Given the description of an element on the screen output the (x, y) to click on. 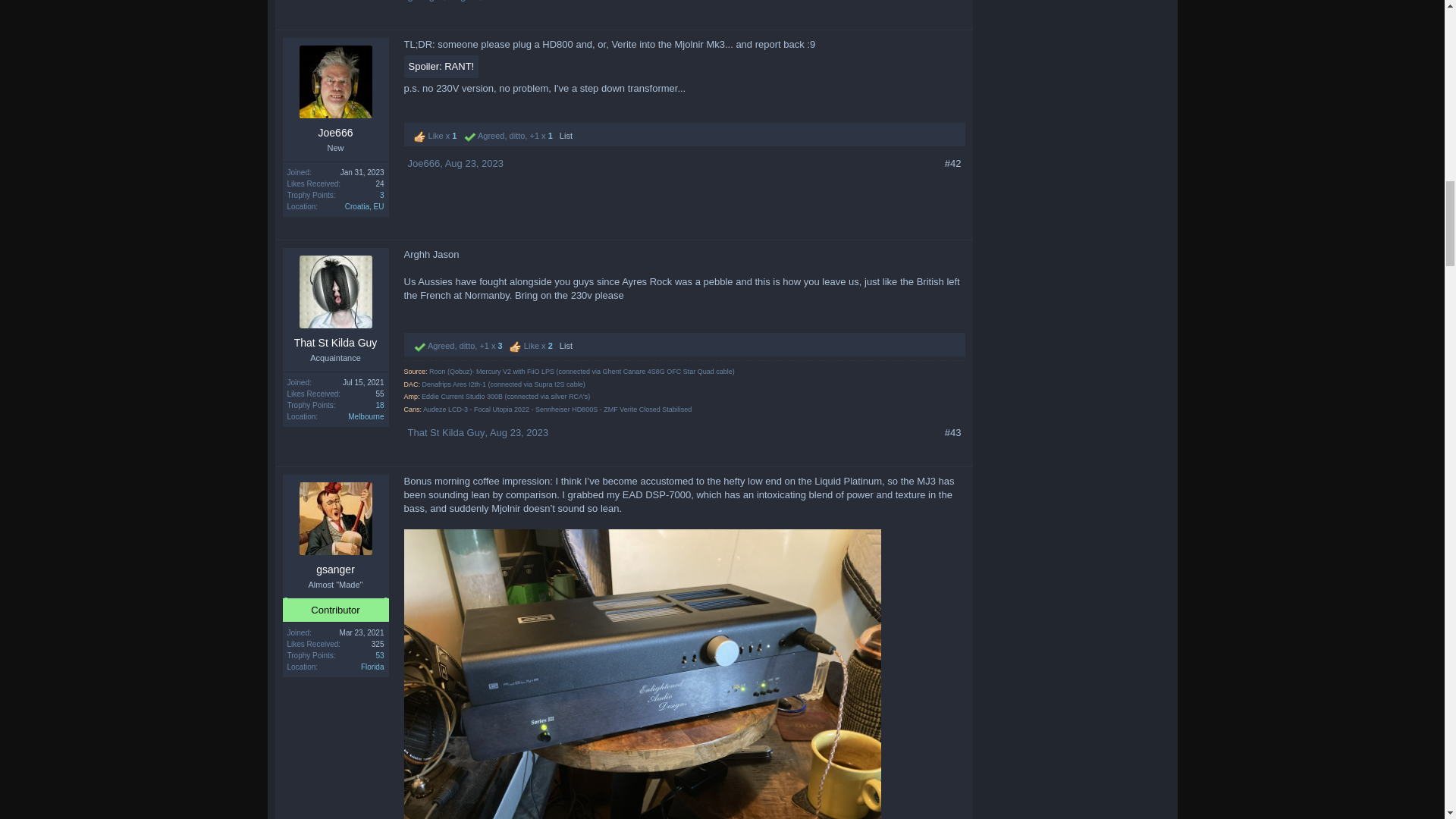
Permalink (477, 0)
Permalink (474, 163)
Permalink (952, 164)
Permalink (952, 432)
Permalink (952, 1)
Like (419, 137)
Permalink (518, 432)
Like (515, 346)
